Given the description of an element on the screen output the (x, y) to click on. 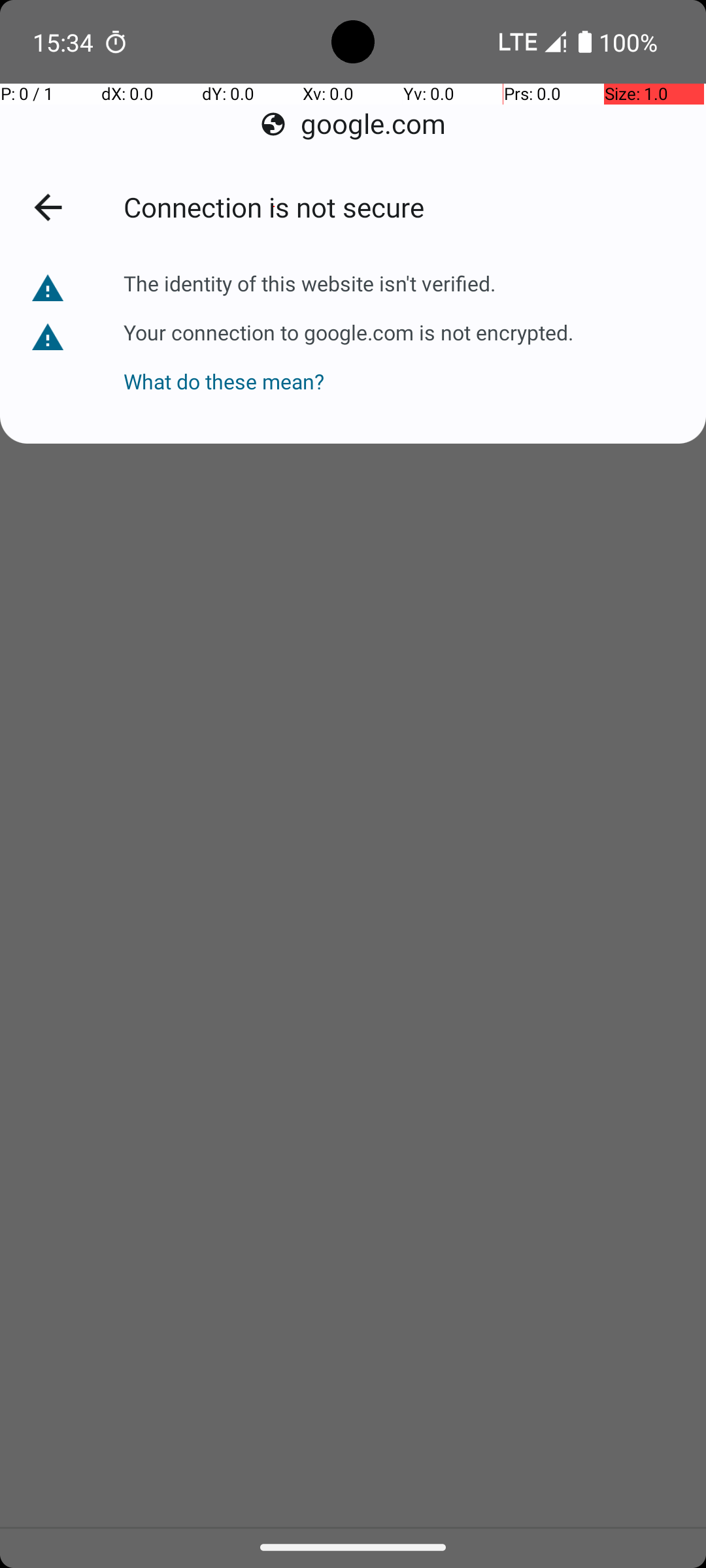
The identity of this website isn't verified. Element type: android.widget.TextView (311, 283)
Your connection to google.com is not encrypted. Element type: android.widget.TextView (348, 330)
What do these mean? Element type: android.widget.TextView (348, 368)
